Given the description of an element on the screen output the (x, y) to click on. 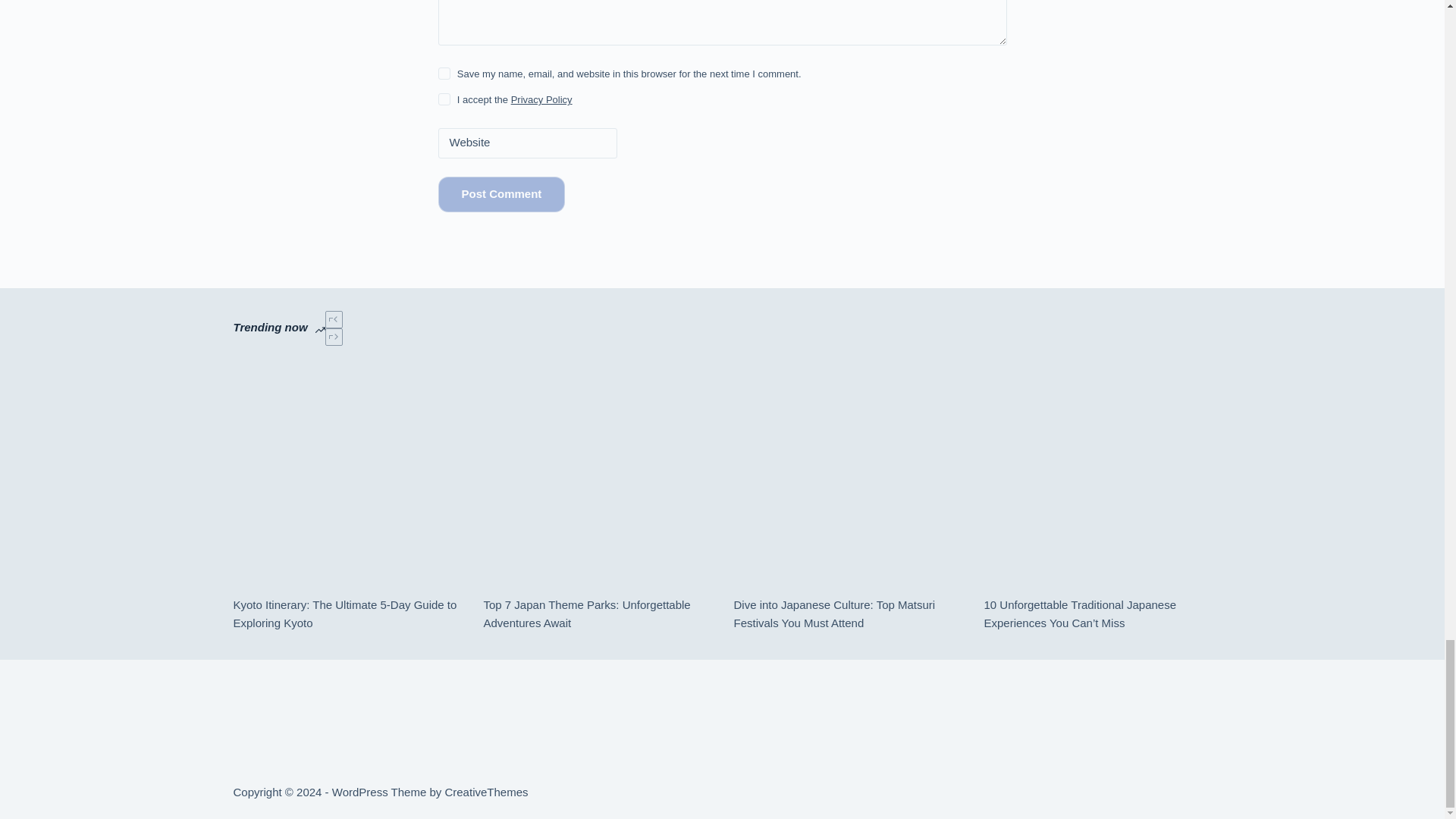
on (443, 99)
Privacy Policy (541, 99)
yes (443, 73)
